Given the description of an element on the screen output the (x, y) to click on. 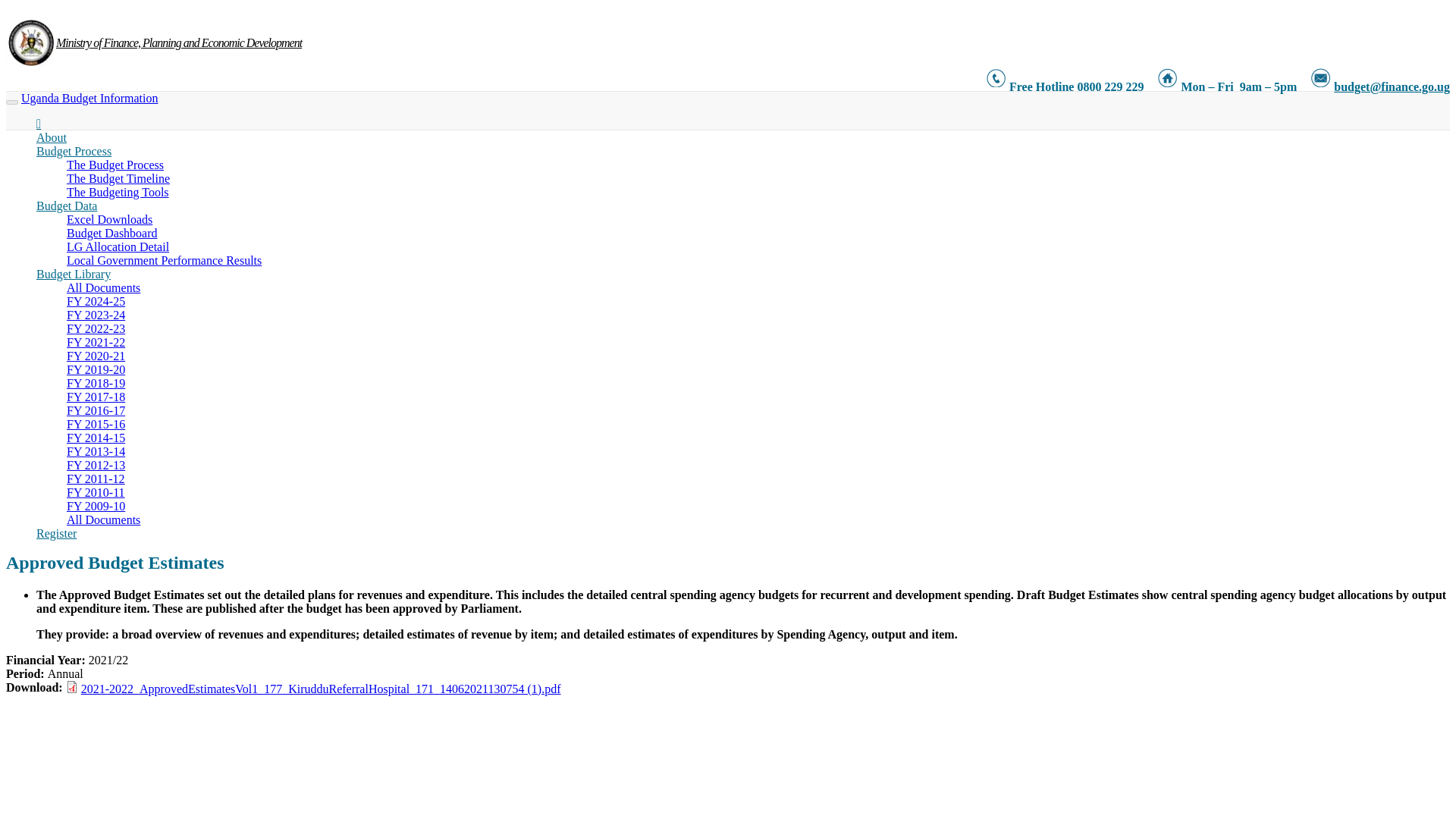
Home (30, 43)
FY 2022-23 (95, 328)
FY 2021-22 (95, 341)
FY 2024-25 (95, 300)
Budget Data (66, 205)
Budget Library (73, 273)
Ministry of Finance, Planning and Economic Development (178, 33)
FY 2009-10 (95, 505)
FY 2017-18 (95, 396)
Local Government Performance Results (164, 259)
FY 2011-12 (95, 478)
Excel Downloads (109, 219)
FY 2015-16 (95, 423)
All Documents (102, 287)
FY 2019-20 (95, 369)
